Given the description of an element on the screen output the (x, y) to click on. 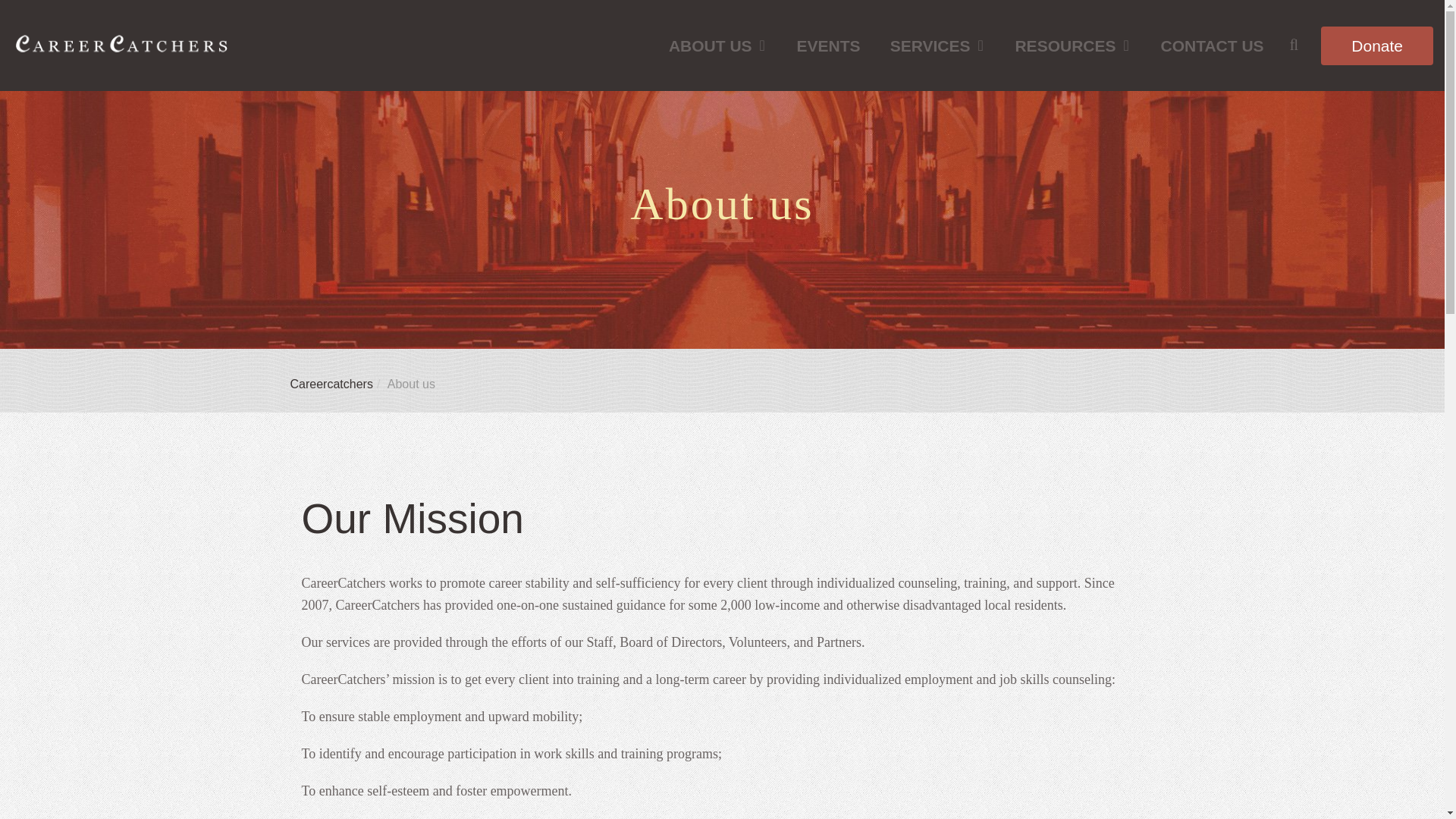
EVENTS (828, 45)
CONTACT US (1211, 45)
SERVICES (938, 45)
Donate (1376, 45)
RESOURCES (1071, 45)
Careercatchers (330, 383)
ABOUT US (718, 45)
